Given the description of an element on the screen output the (x, y) to click on. 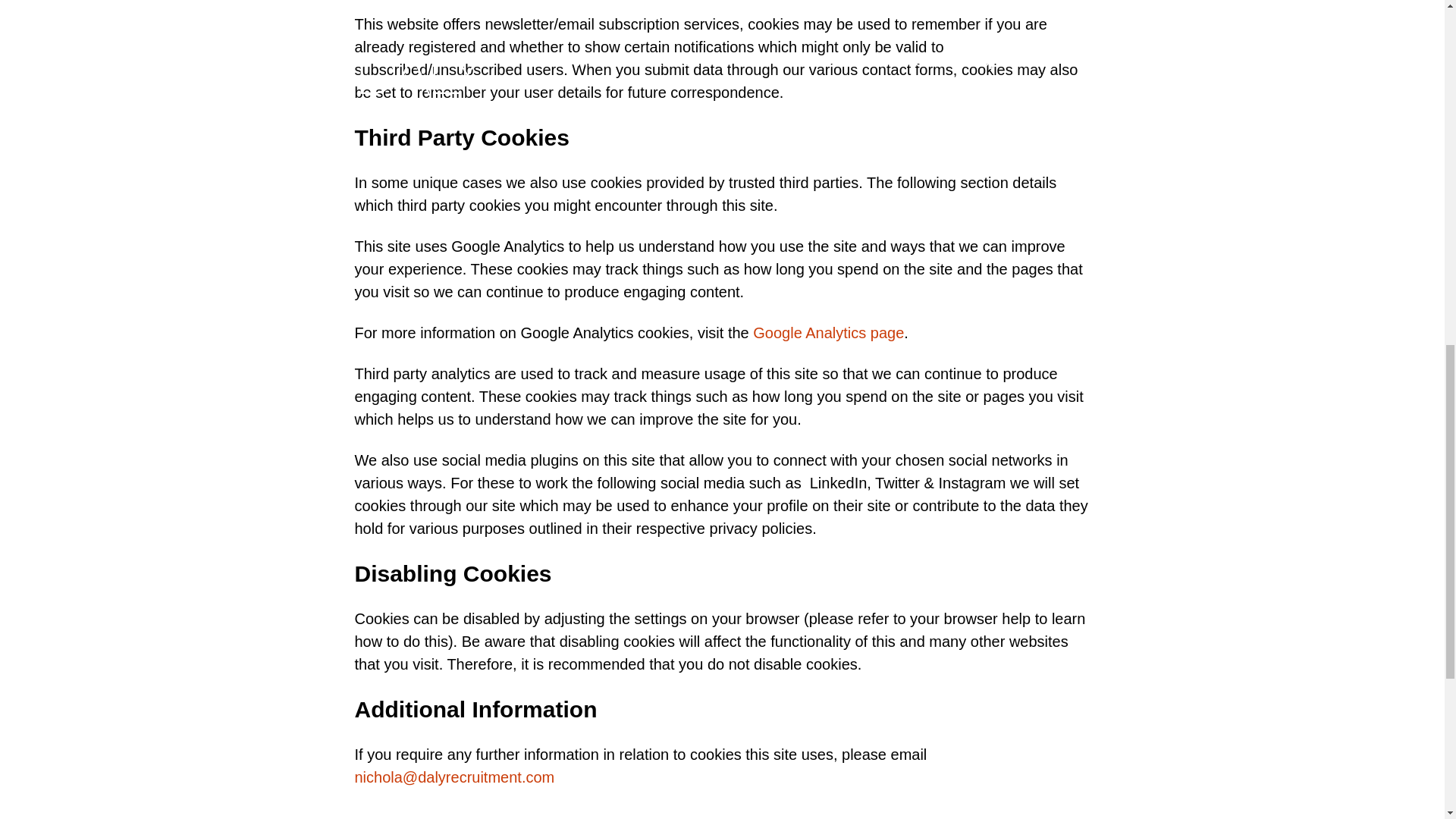
Google Analytics page (828, 332)
